Given the description of an element on the screen output the (x, y) to click on. 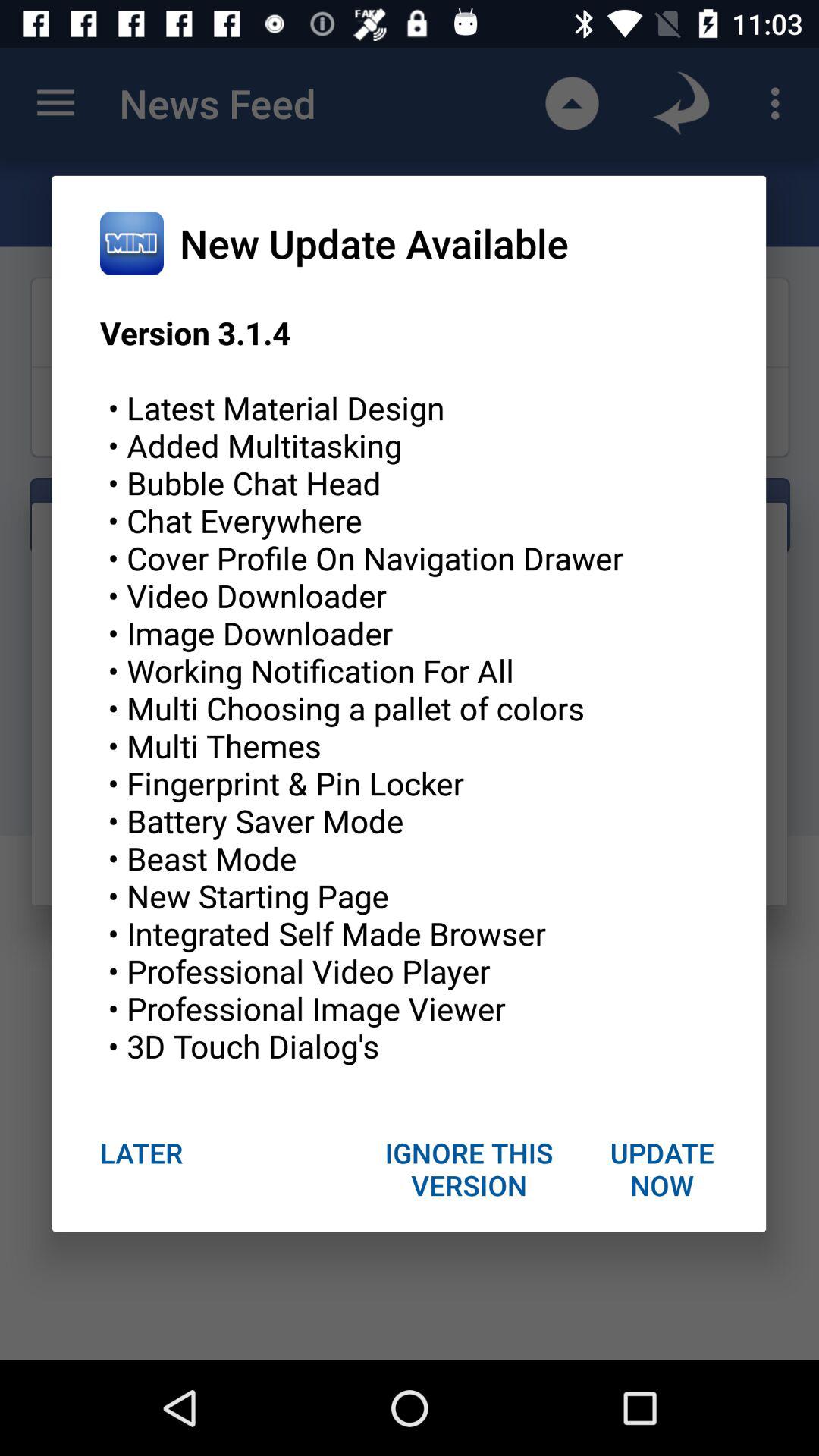
jump to ignore this
version item (469, 1168)
